Given the description of an element on the screen output the (x, y) to click on. 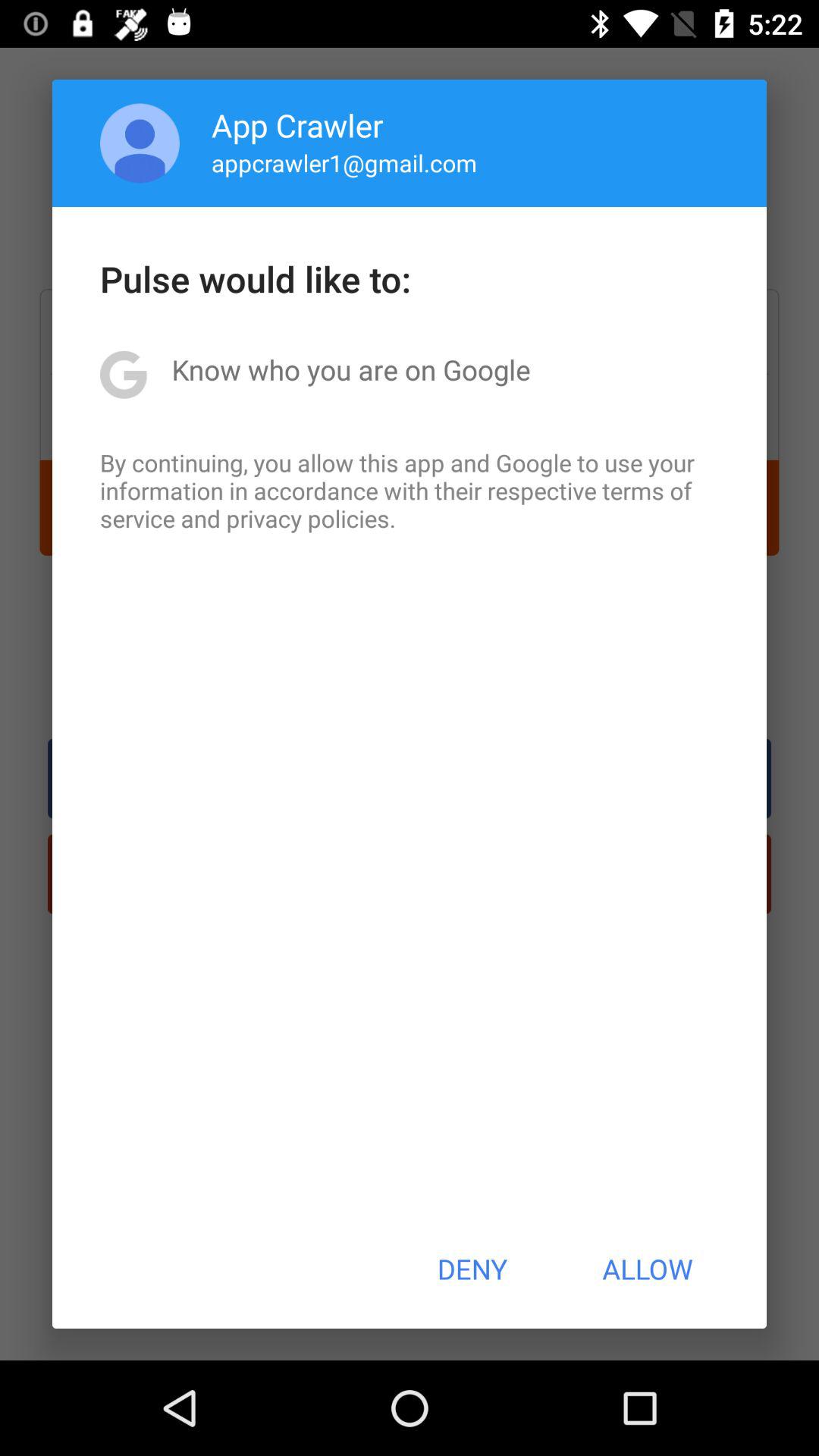
launch deny item (471, 1268)
